Given the description of an element on the screen output the (x, y) to click on. 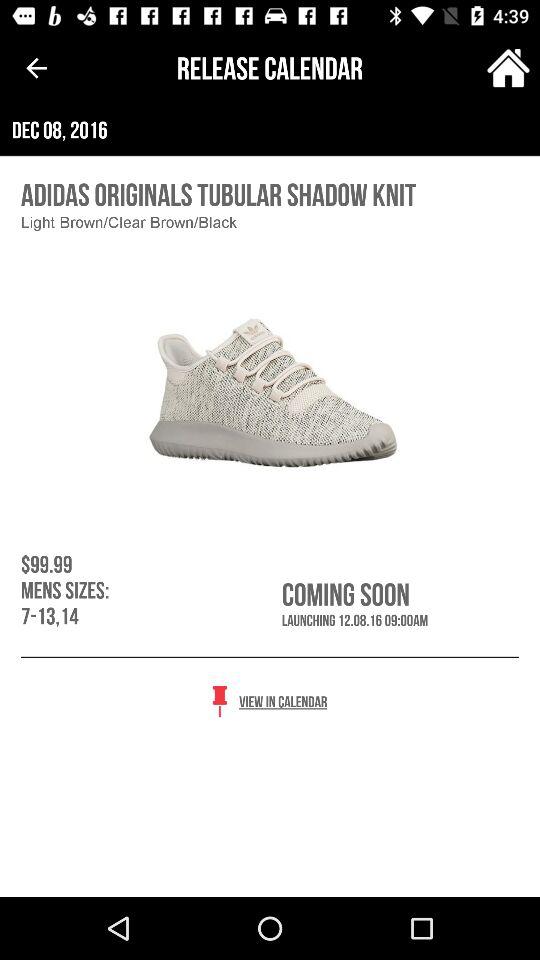
select icon at the top right corner (508, 67)
